Given the description of an element on the screen output the (x, y) to click on. 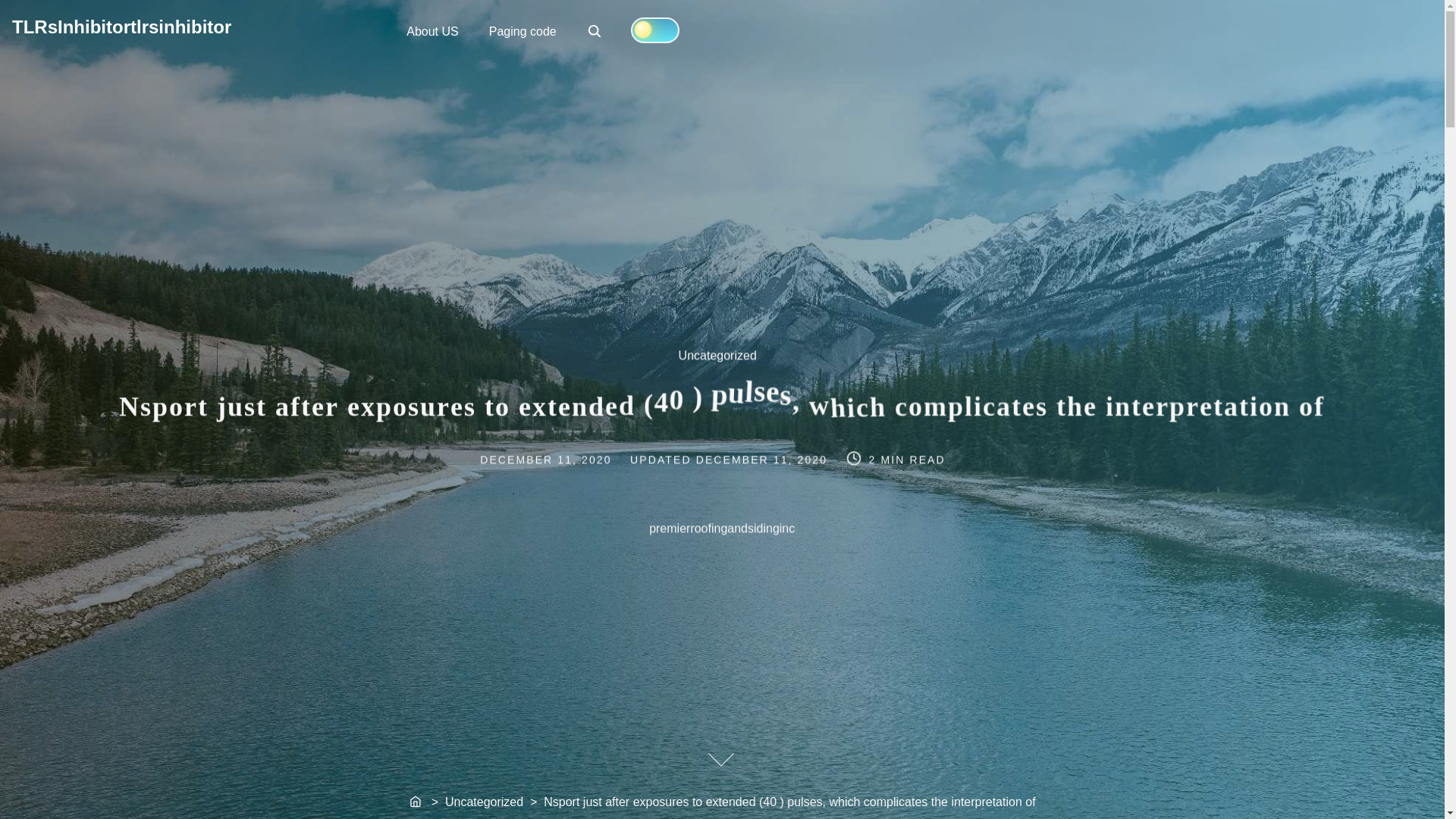
Home (416, 802)
About US (432, 30)
DECEMBER 11, 2020 (763, 458)
TLRsInhibitortlrsinhibitor (121, 26)
Uncategorized (726, 363)
Paging code (523, 30)
Search (596, 31)
DECEMBER 11, 2020 (594, 30)
